Given the description of an element on the screen output the (x, y) to click on. 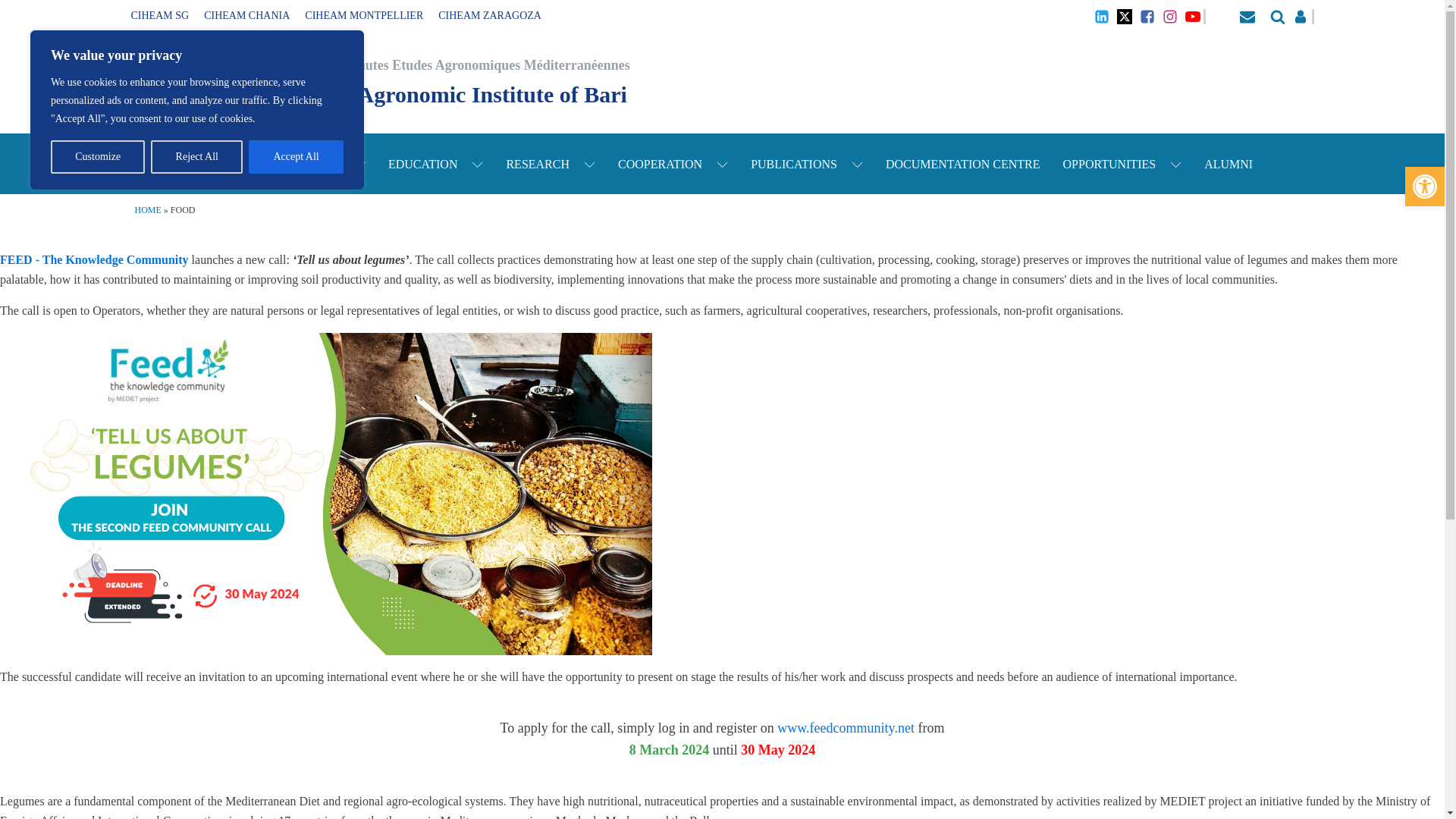
CIHEAM SG (160, 16)
Customize (97, 156)
Reject All (197, 156)
CIHEAM CHANIA (246, 16)
Accessibility Tools (1424, 186)
Accept All (295, 156)
CIHEAM MONTPELLIER (363, 16)
ABOUT US (177, 164)
CIHEAM ZARAGOZA (489, 16)
